Given the description of an element on the screen output the (x, y) to click on. 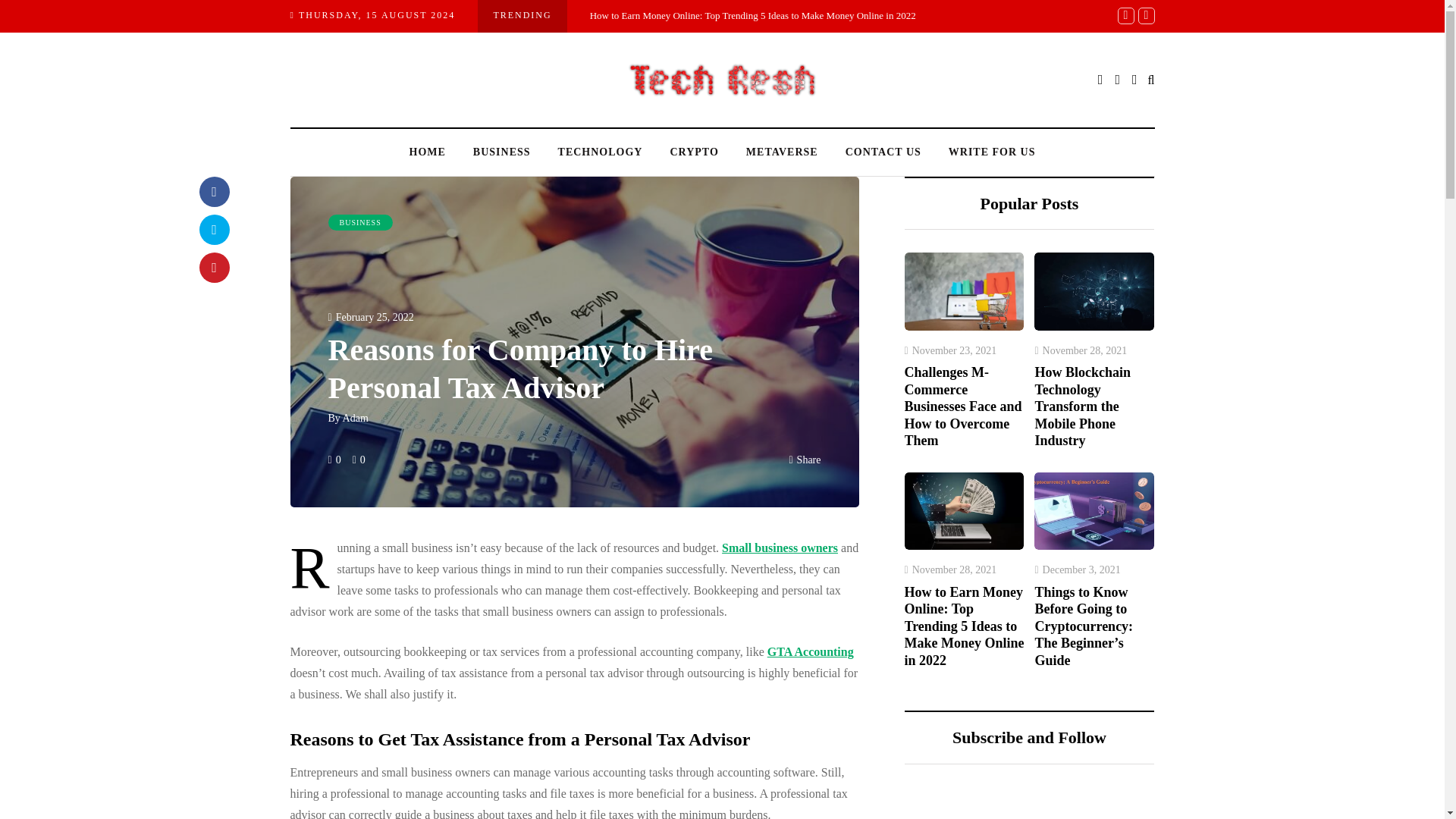
BUSINESS (359, 222)
Adam (355, 418)
HOME (428, 152)
TECHNOLOGY (600, 152)
CONTACT US (882, 152)
Share with Facebook (213, 191)
METAVERSE (781, 152)
Pin this (213, 267)
